Given the description of an element on the screen output the (x, y) to click on. 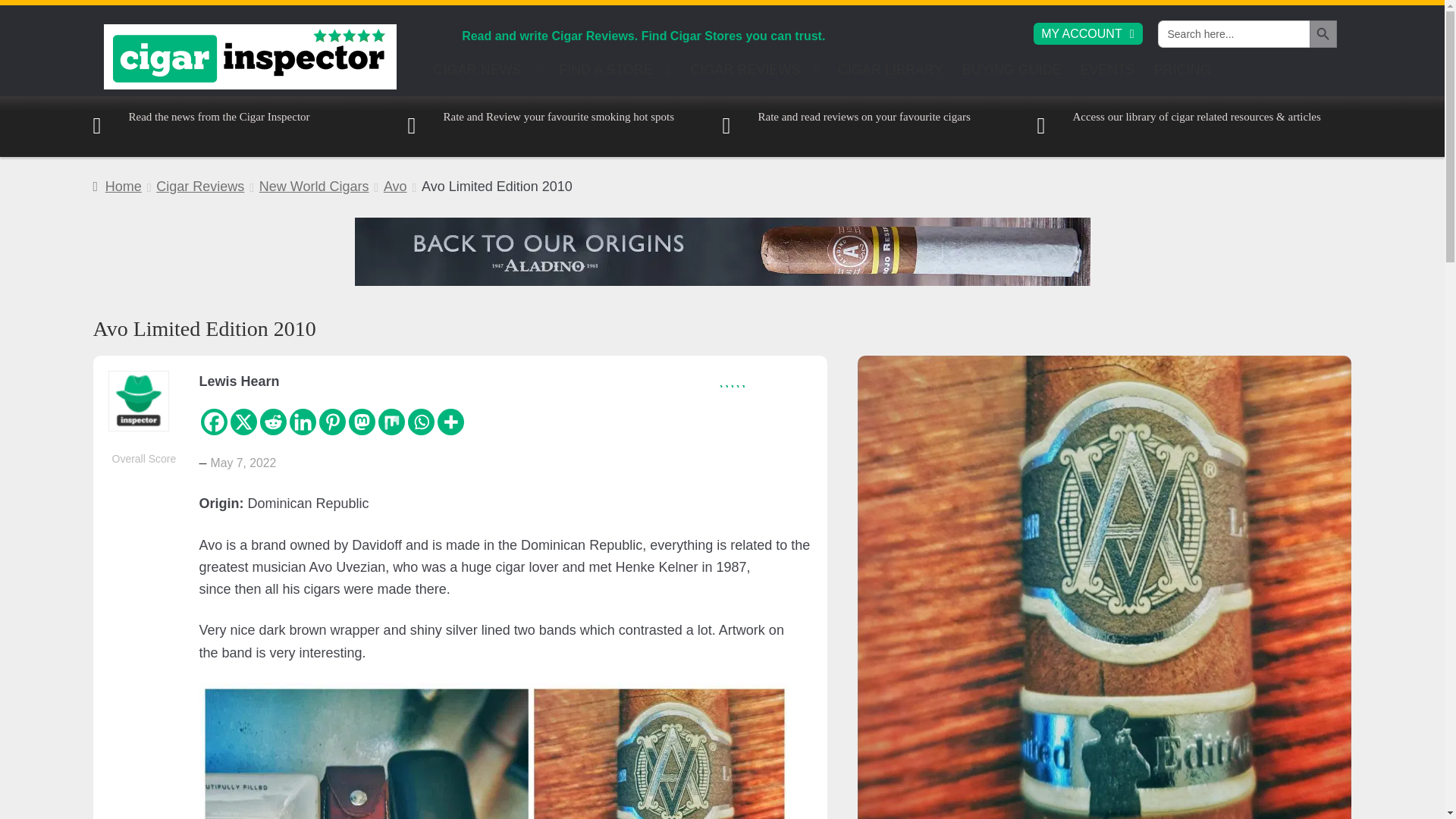
X (243, 421)
More (449, 421)
Home (117, 186)
Pinterest (331, 421)
Rate and read reviews on your favourite cigars (845, 125)
CIGAR REVIEWS (754, 73)
BUYING GUIDE (1011, 73)
Rate and Review your favourite smoking hot spots (541, 125)
Cigar Reviews (199, 186)
Facebook (213, 421)
